Given the description of an element on the screen output the (x, y) to click on. 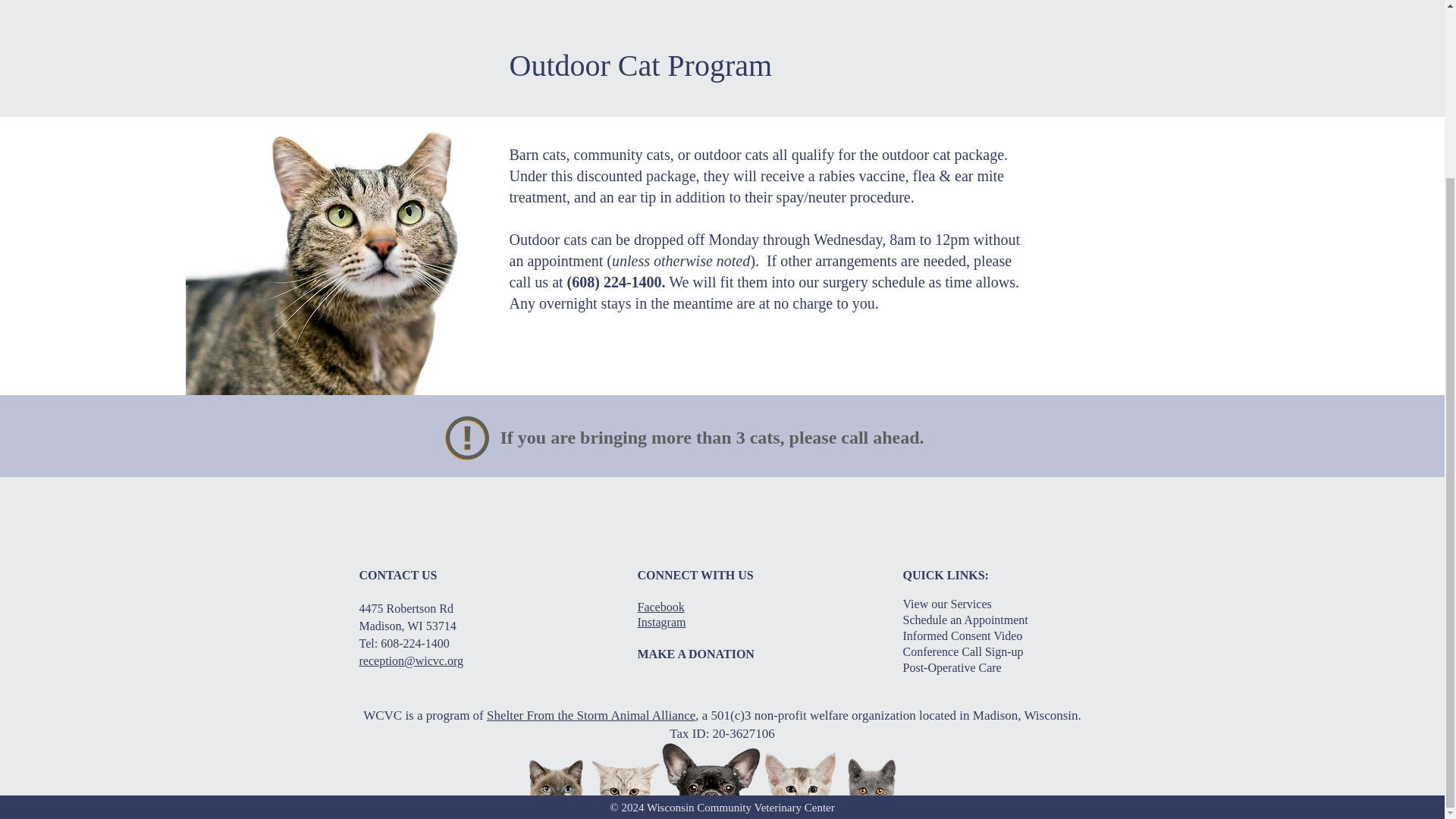
Services (525, 4)
View our Services (946, 603)
Make a Payment (1028, 4)
Instagram (661, 621)
Home (384, 4)
Shelter From the Storm Animal Alliance (590, 715)
Schedule (689, 4)
Resources (915, 4)
Schedule an Appointment (964, 619)
Post-Operative Care (951, 667)
